Given the description of an element on the screen output the (x, y) to click on. 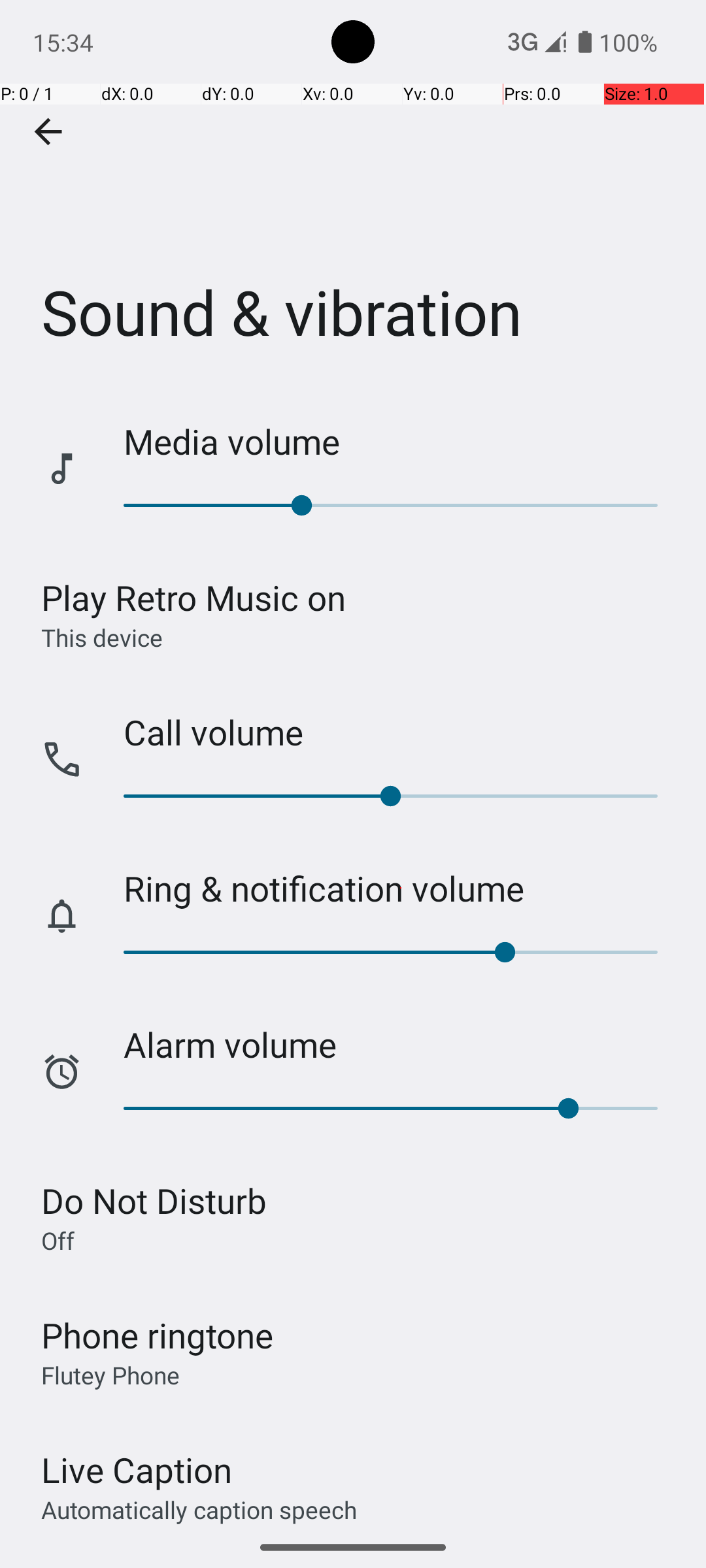
Sound & vibration Element type: android.widget.FrameLayout (353, 195)
Media volume Element type: android.widget.TextView (400, 441)
Play Retro Music on Element type: android.widget.TextView (193, 597)
This device Element type: android.widget.TextView (101, 636)
Call volume Element type: android.widget.TextView (400, 731)
Ring & notification volume Element type: android.widget.TextView (400, 888)
Alarm volume Element type: android.widget.TextView (400, 1044)
Do Not Disturb Element type: android.widget.TextView (153, 1200)
Off Element type: android.widget.TextView (57, 1240)
Phone ringtone Element type: android.widget.TextView (157, 1334)
Flutey Phone Element type: android.widget.TextView (110, 1374)
Live Caption Element type: android.widget.TextView (136, 1469)
Automatically caption speech Element type: android.widget.TextView (199, 1509)
